Given the description of an element on the screen output the (x, y) to click on. 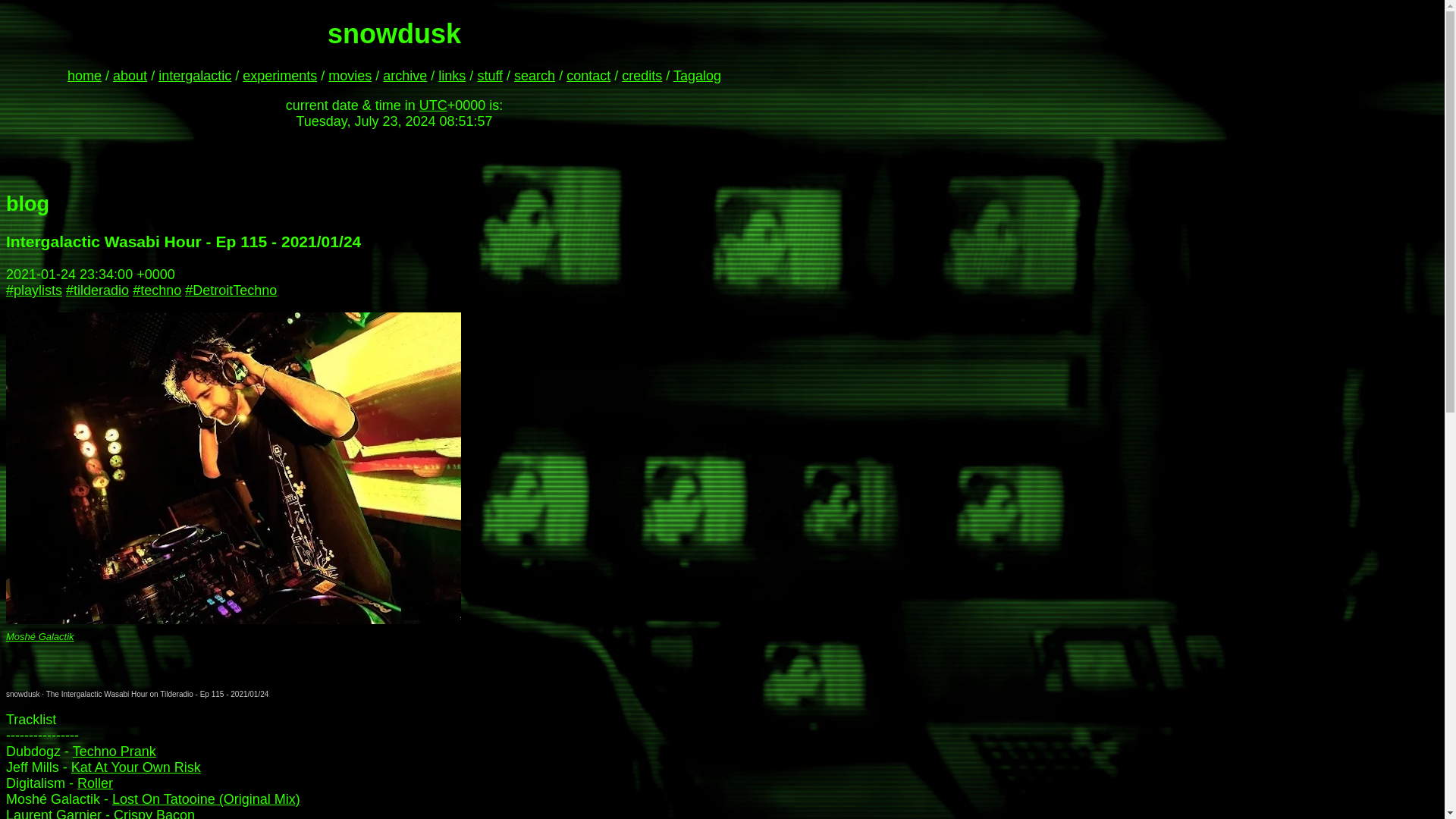
UTC (432, 105)
Roller (95, 783)
Crispy Bacon (154, 813)
experiments (280, 75)
Kat At Your Own Risk (135, 767)
movies (350, 75)
contact (588, 75)
links (451, 75)
home (83, 75)
about (130, 75)
intergalactic (194, 75)
snowdusk (22, 694)
stuff (489, 75)
search (533, 75)
archive (404, 75)
